Given the description of an element on the screen output the (x, y) to click on. 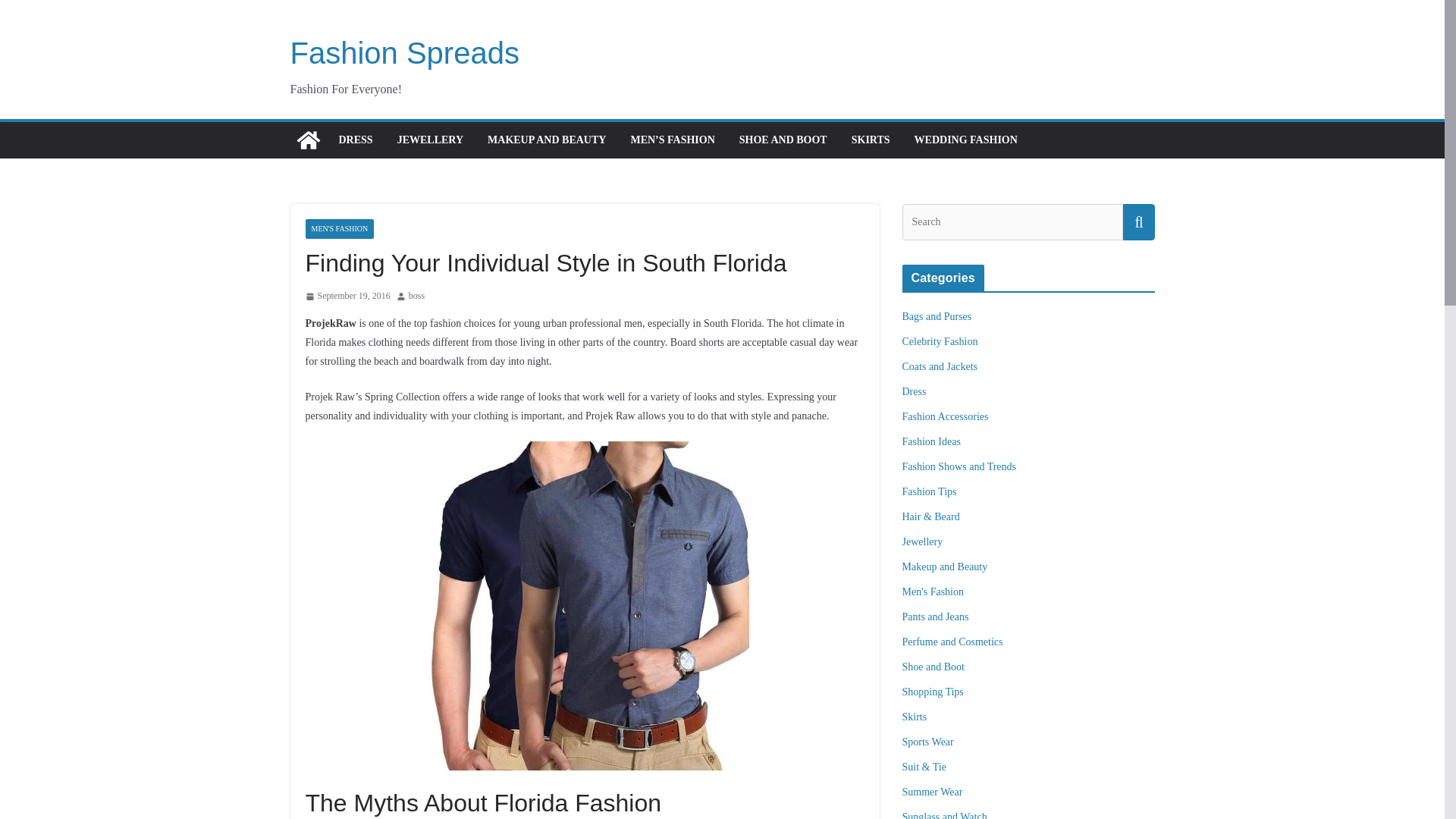
Celebrity Fashion (940, 341)
Fashion Spreads (403, 52)
MEN'S FASHION (339, 229)
WEDDING FASHION (965, 139)
Perfume and Cosmetics (952, 641)
Fashion Spreads (403, 52)
Shopping Tips (932, 691)
4:57 am (347, 296)
Fashion Shows and Trends (959, 466)
Fashion Tips (929, 491)
SHOE AND BOOT (783, 139)
Fashion Ideas (931, 441)
September 19, 2016 (347, 296)
Fashion Spreads (307, 140)
Shoe and Boot (932, 666)
